Given the description of an element on the screen output the (x, y) to click on. 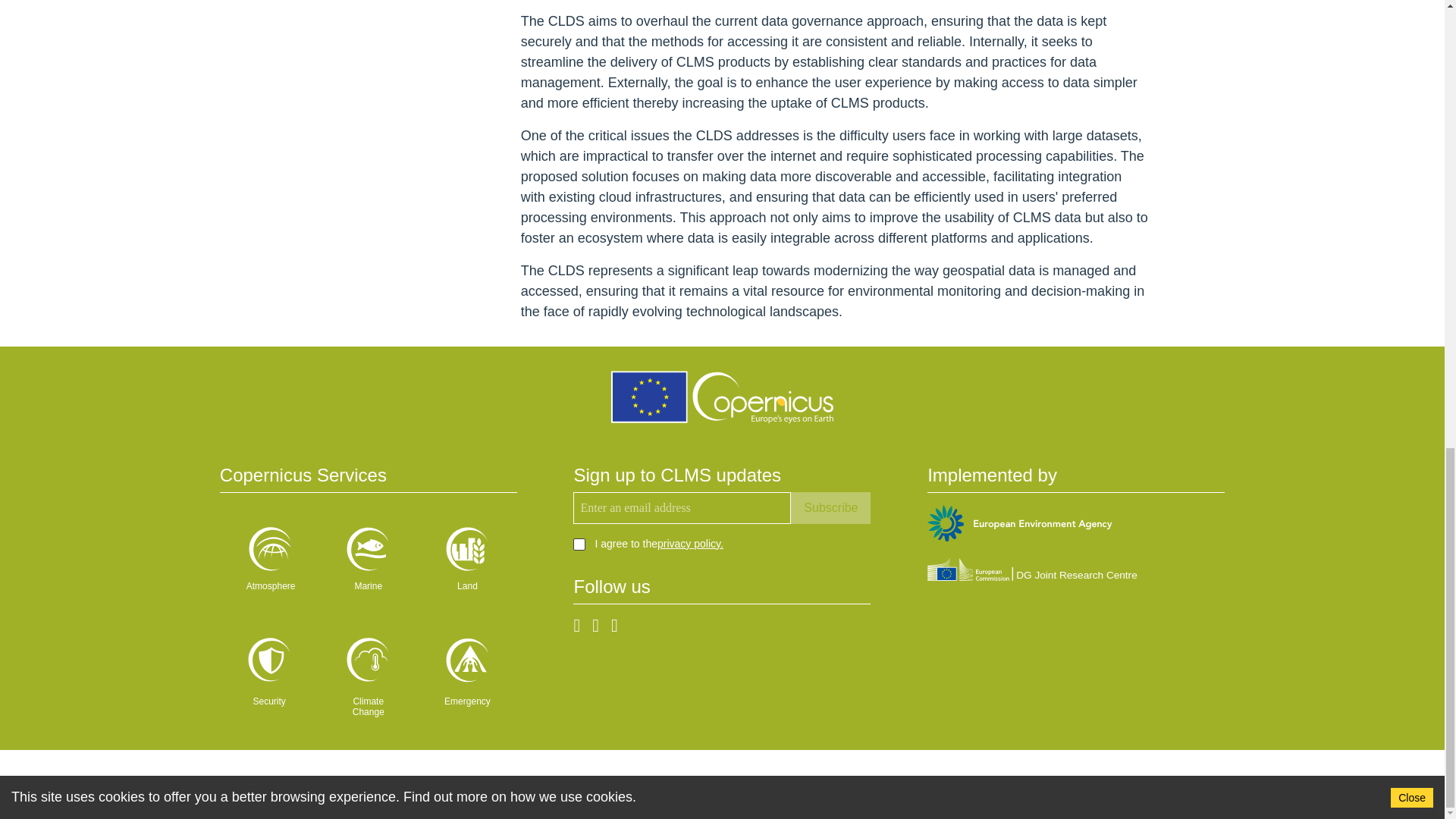
Subscribe (830, 508)
European Environment Agency (1019, 525)
privacy policy. (690, 543)
Joint Research Centre (1032, 572)
